Given the description of an element on the screen output the (x, y) to click on. 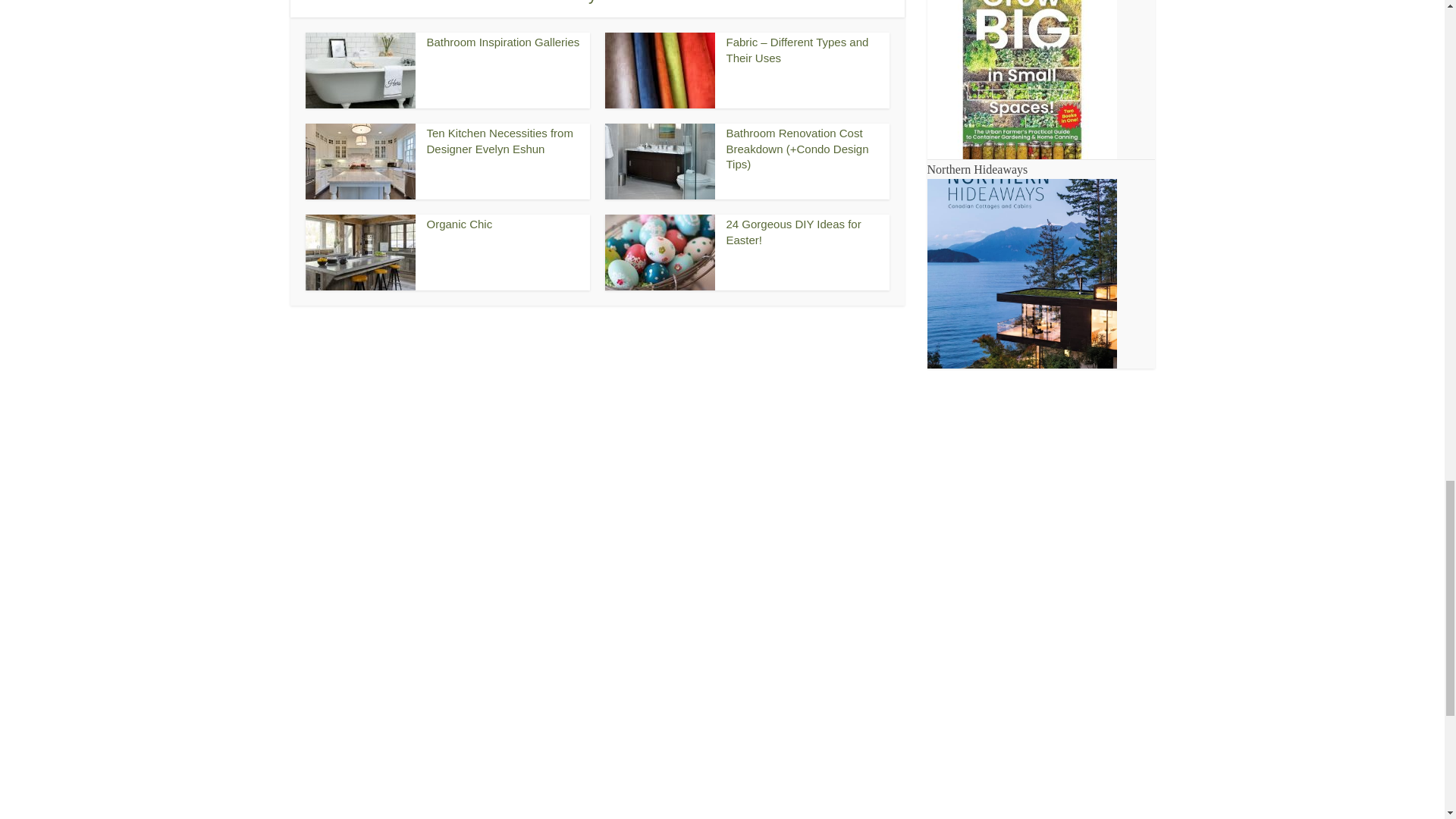
Bathroom Inspiration Galleries (502, 42)
Ten Kitchen Necessities from Designer Evelyn Eshun (499, 140)
